Given the description of an element on the screen output the (x, y) to click on. 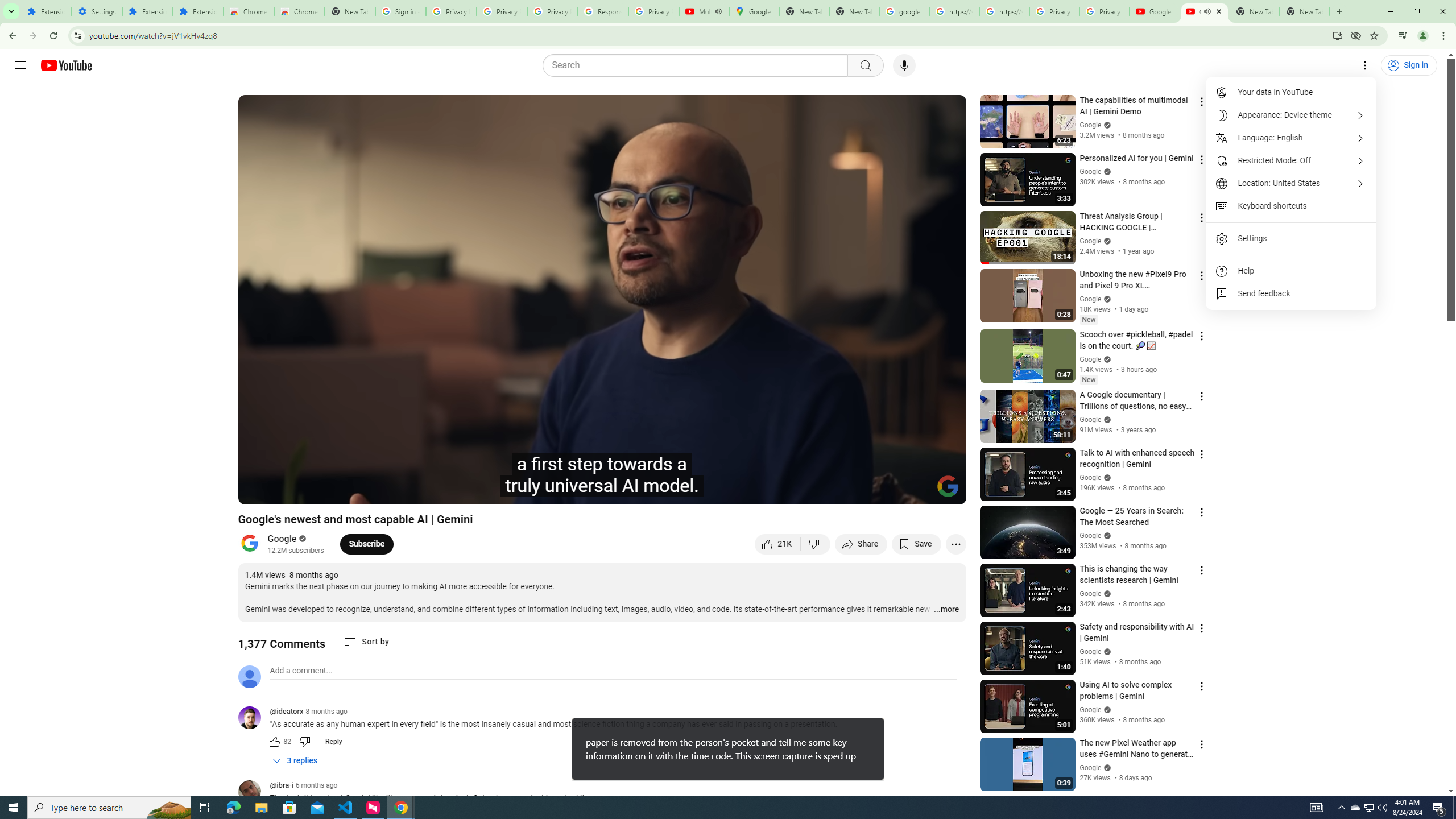
Extensions (146, 11)
New (1087, 379)
YouTube Home (66, 65)
Channel watermark (947, 486)
Like this comment along with 82 other people (273, 741)
Save to playlist (915, 543)
Search with your voice (903, 65)
Install YouTube (1336, 35)
